Given the description of an element on the screen output the (x, y) to click on. 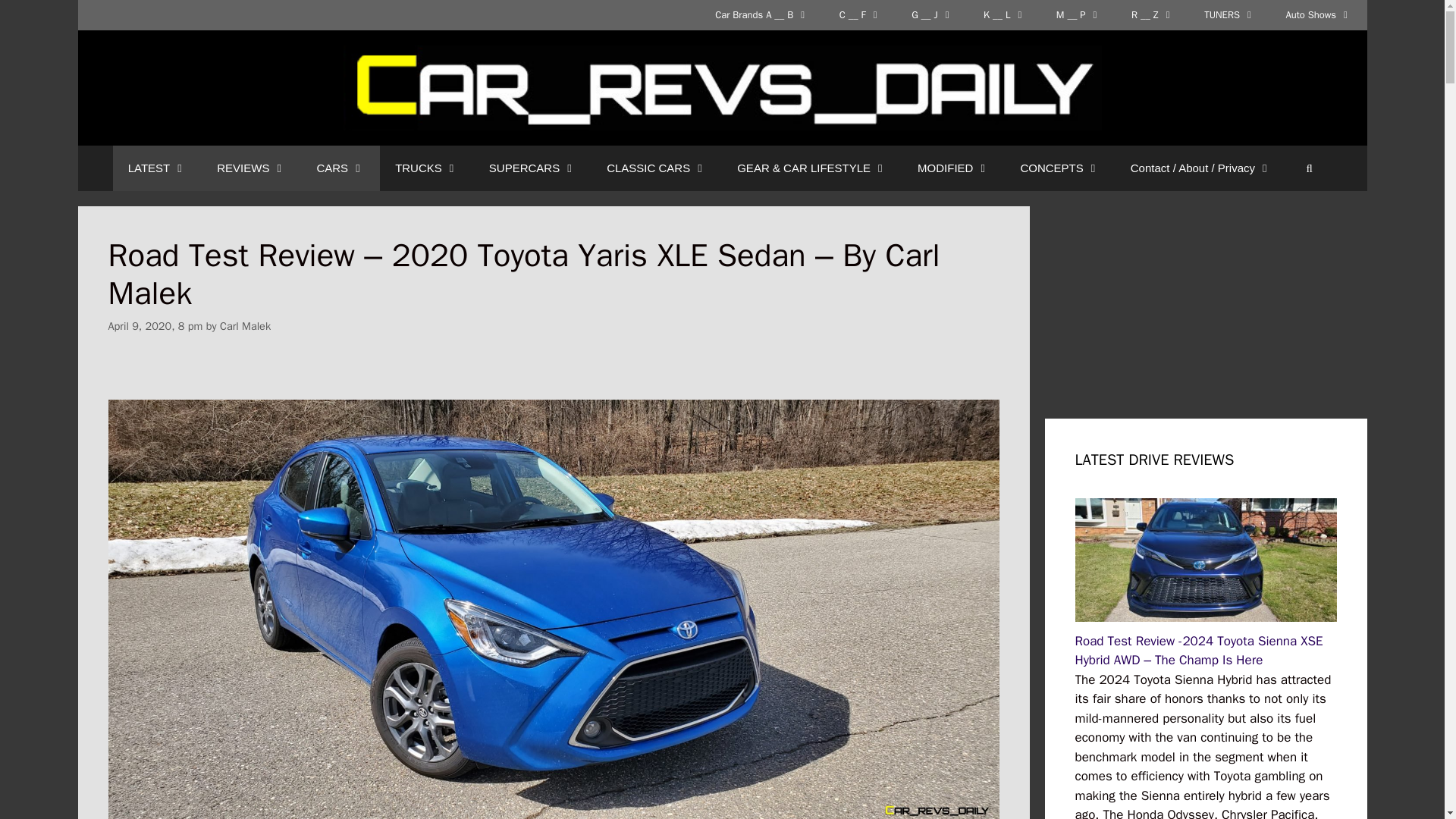
View all posts by Carl Malek (244, 325)
